Given the description of an element on the screen output the (x, y) to click on. 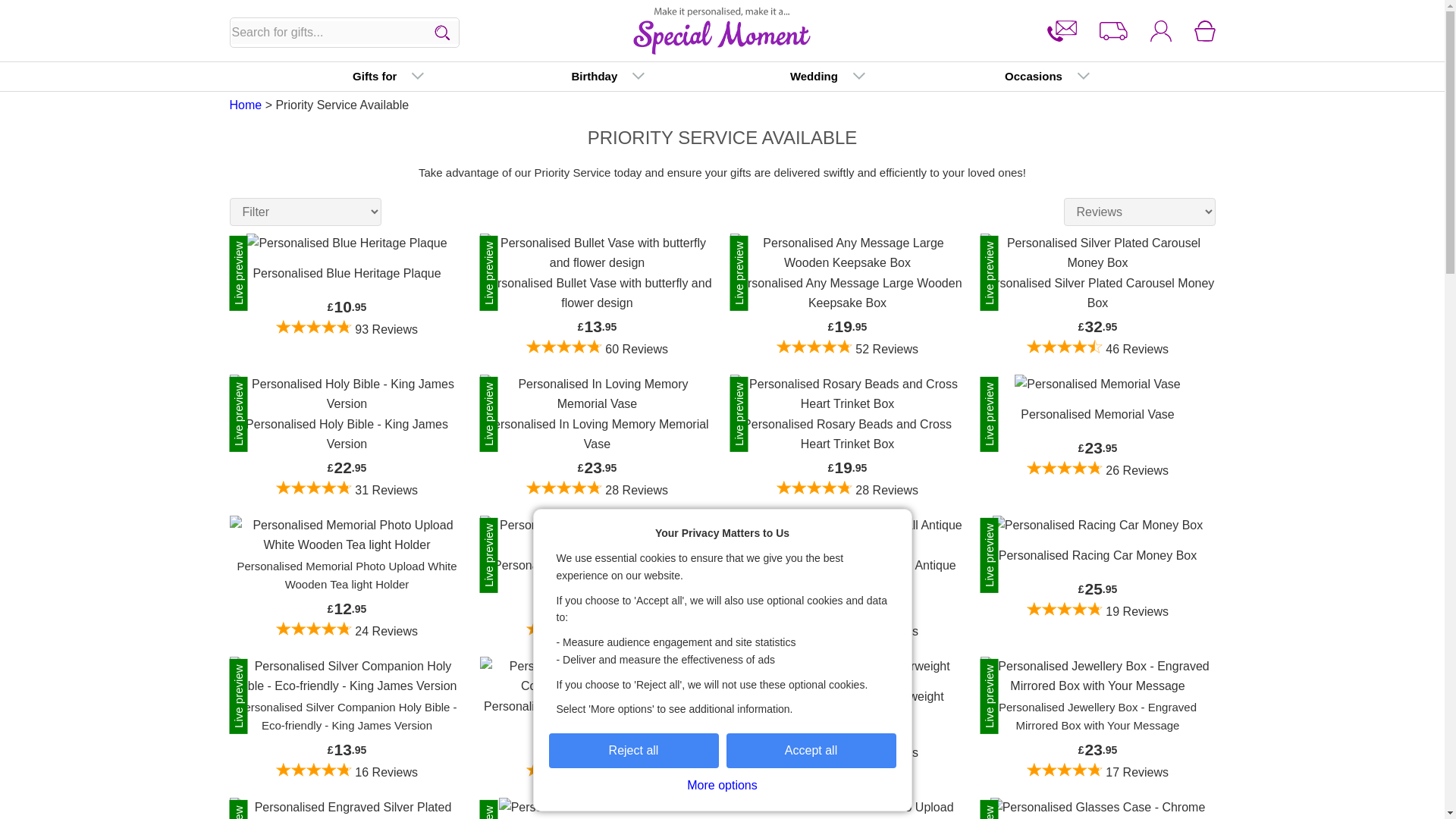
Accept all (811, 750)
More options (722, 784)
Account (1160, 30)
Track order (1112, 30)
Reject all (633, 750)
Contact us (1061, 30)
